Given the description of an element on the screen output the (x, y) to click on. 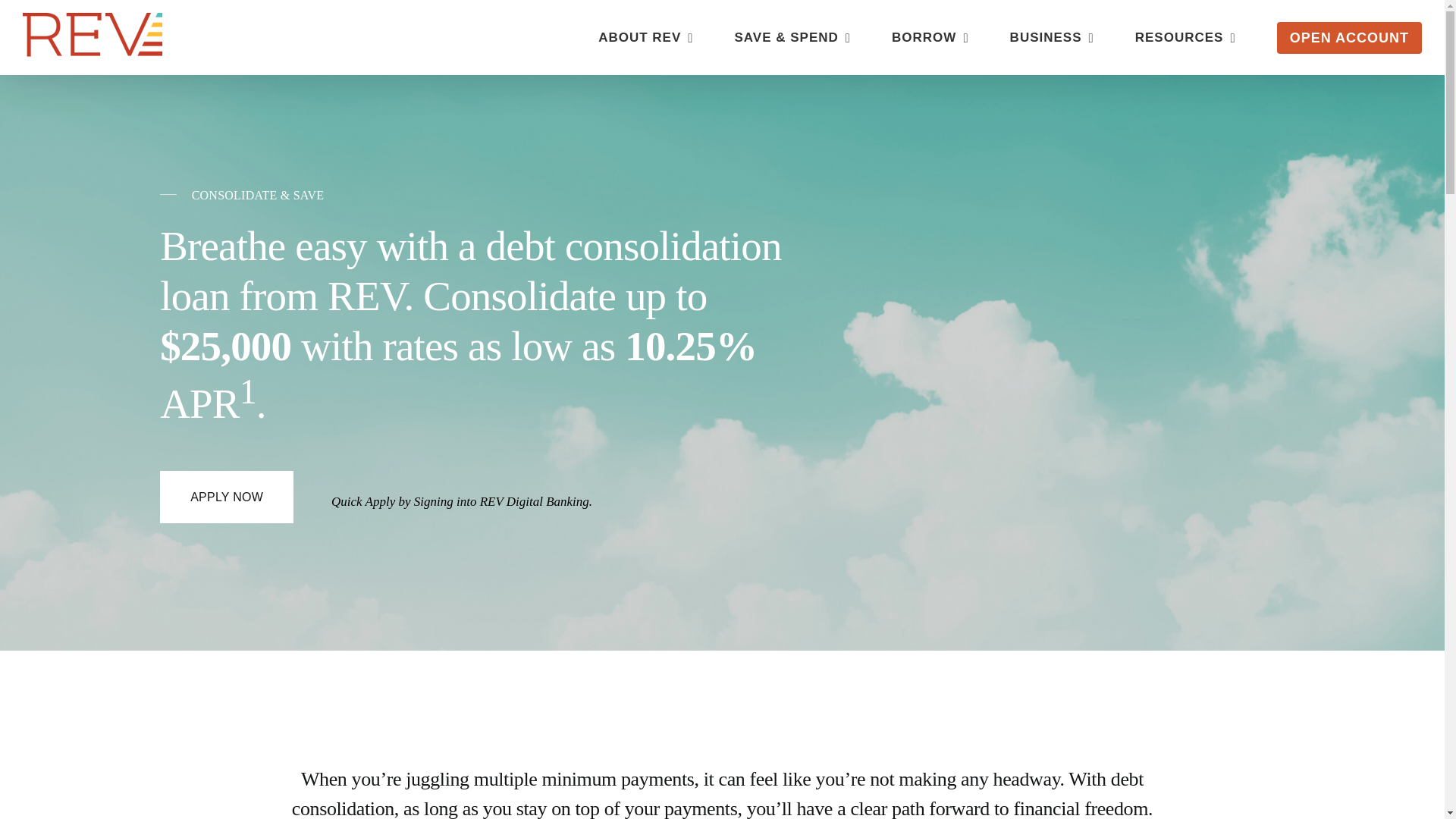
OPEN ACCOUNT (1349, 37)
RESOURCES (1185, 37)
BUSINESS (1052, 37)
ABOUT REV (645, 37)
BORROW (930, 37)
